Given the description of an element on the screen output the (x, y) to click on. 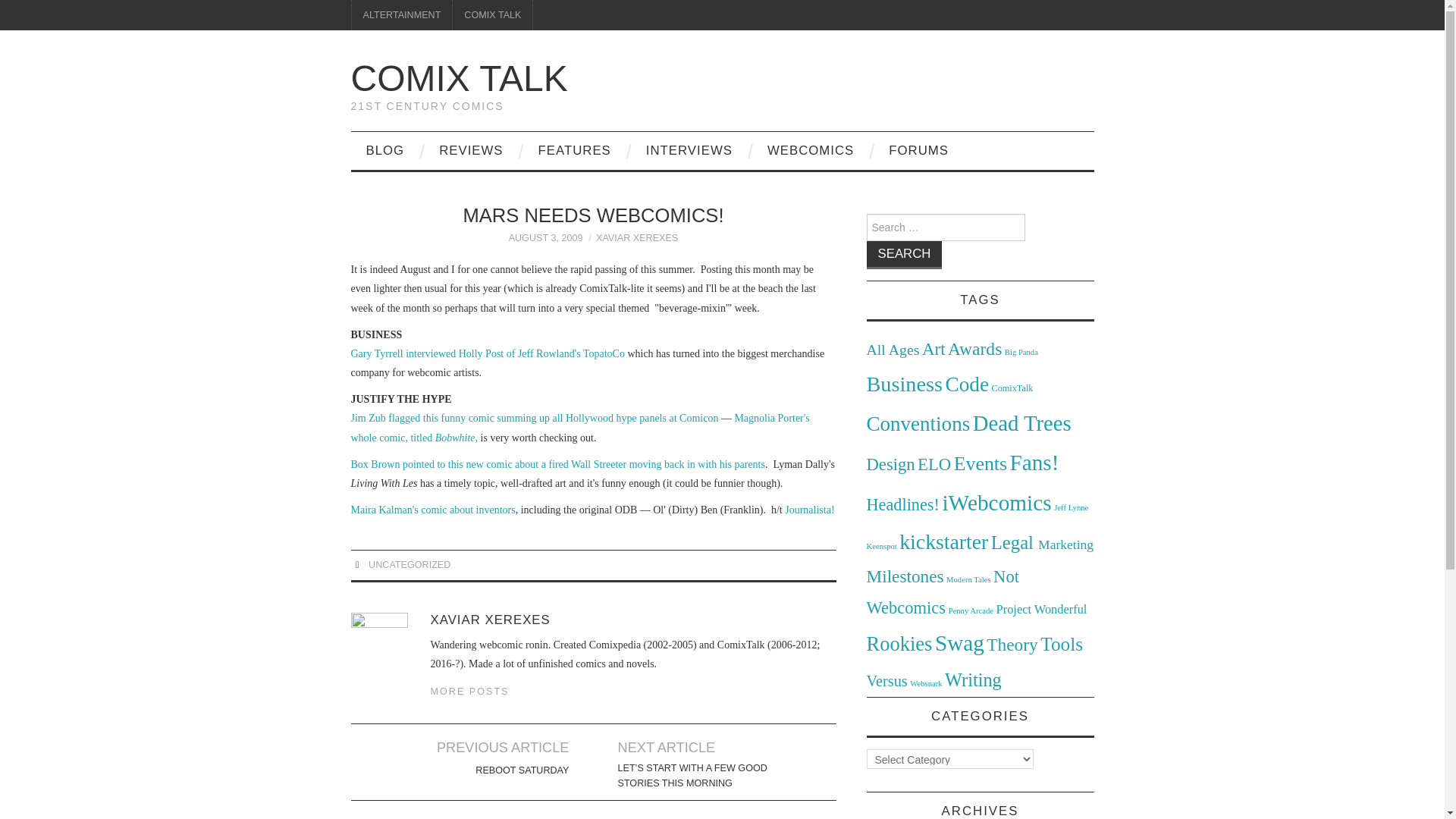
INTERVIEWS (689, 150)
Comix Talk (458, 78)
ComixTalk (1012, 388)
REVIEWS (470, 150)
Search for: (945, 226)
Awards (974, 348)
Big Panda (1021, 352)
All Ages (892, 349)
Magnolia Porter's whole comic, titled Bobwhite, (579, 427)
